Given the description of an element on the screen output the (x, y) to click on. 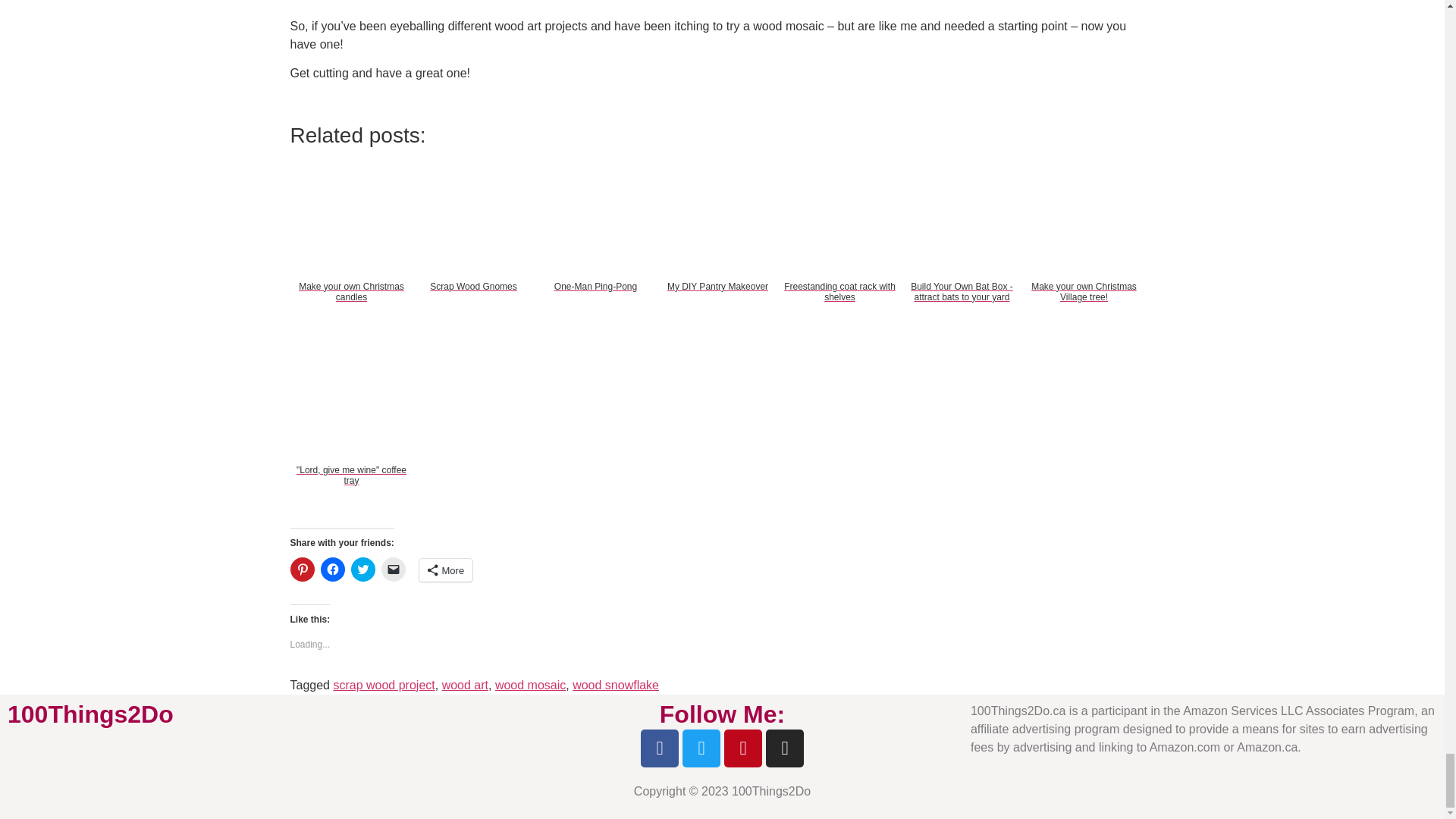
Click to share on Pinterest (301, 569)
Click to share on Twitter (362, 569)
Click to share on Facebook (331, 569)
Click to email a link to a friend (392, 569)
